Given the description of an element on the screen output the (x, y) to click on. 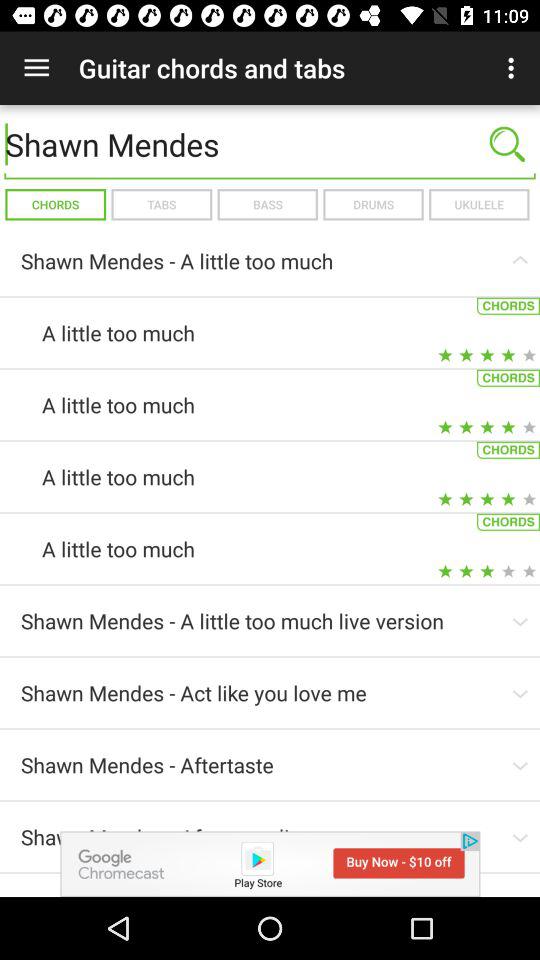
tap icon above the shawn mendes (36, 68)
